Given the description of an element on the screen output the (x, y) to click on. 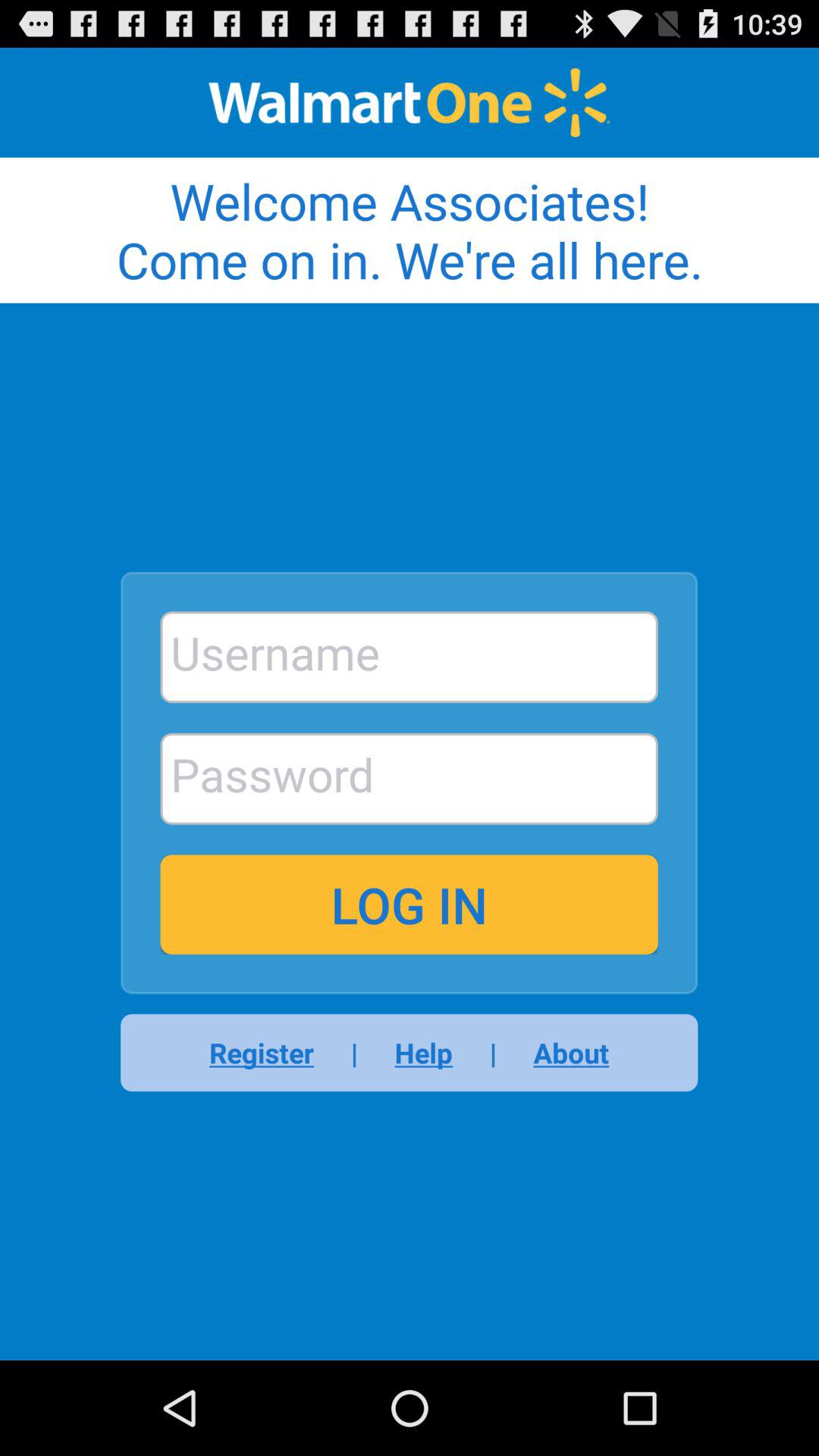
turn on the item below log in icon (560, 1052)
